Given the description of an element on the screen output the (x, y) to click on. 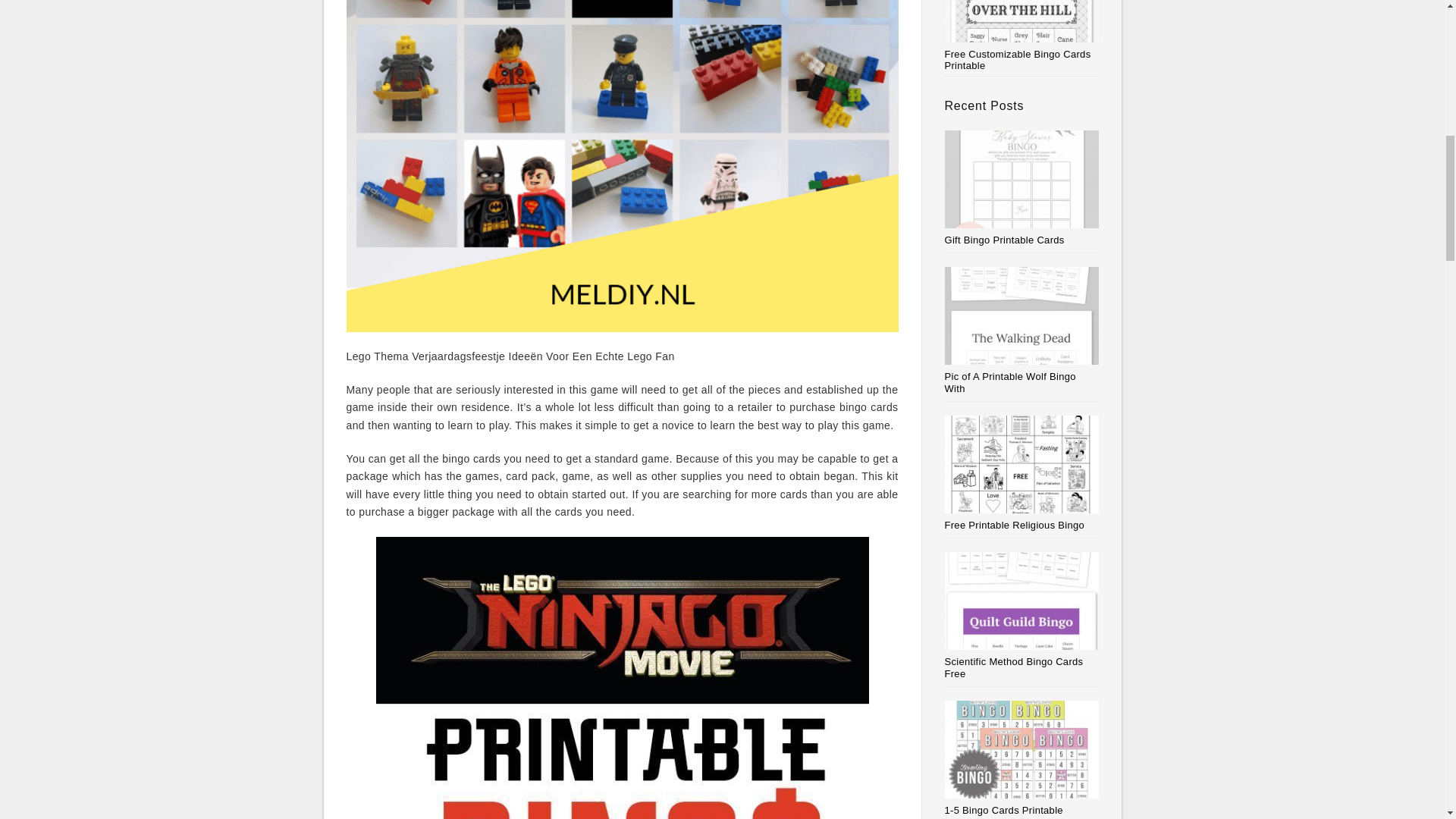
1-5 Bingo Cards Printable (1003, 809)
Pic of A Printable Wolf Bingo With (1009, 382)
Free Printable Religious Bingo (1014, 524)
Scientific Method Bingo Cards Free (1013, 667)
Gift Bingo Printable Cards (1004, 239)
Free Customizable Bingo Cards Printable (1021, 36)
